Given the description of an element on the screen output the (x, y) to click on. 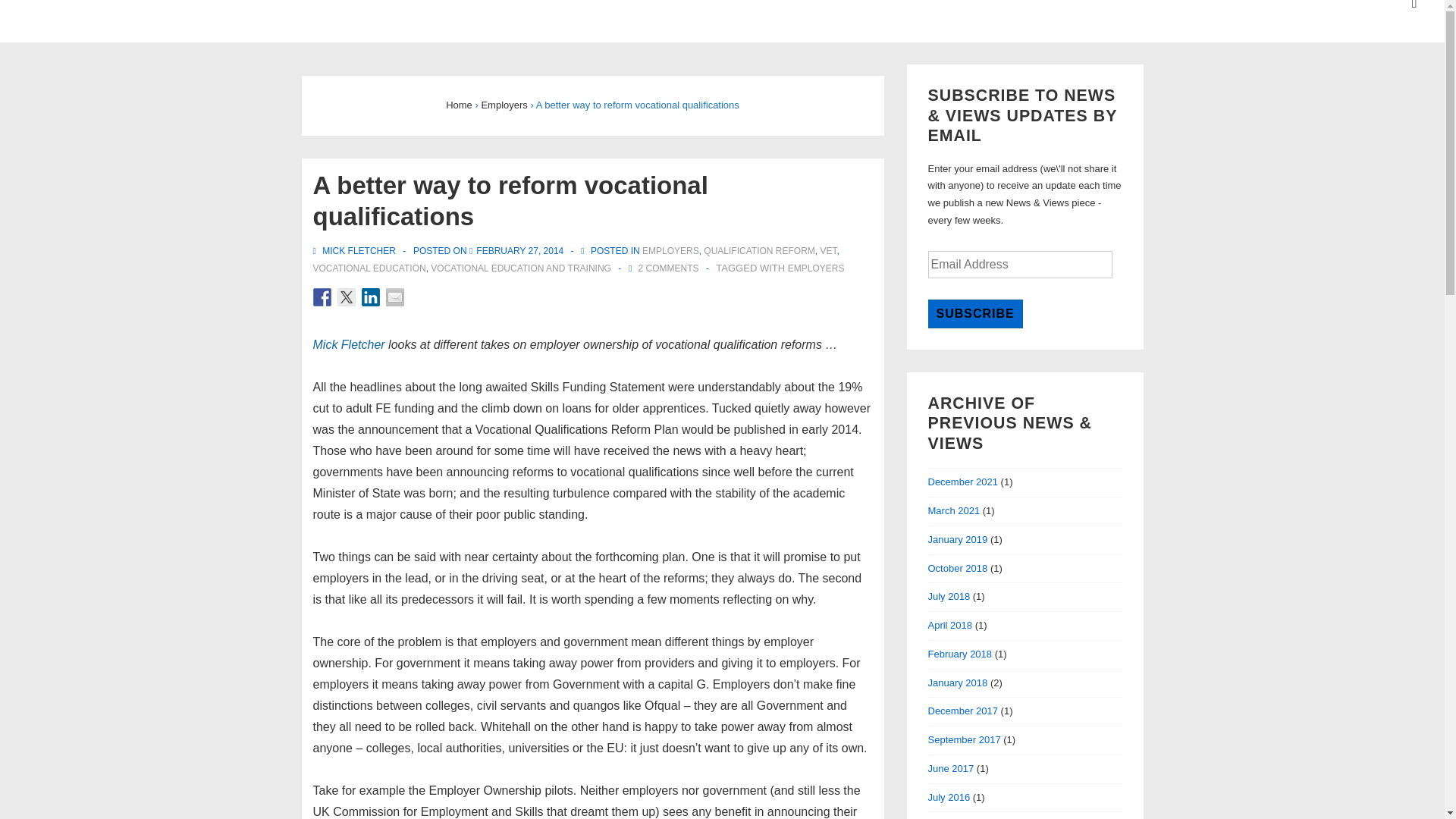
Share on Facebook (321, 297)
QUALIFICATION REFORM (758, 250)
VET (827, 250)
Home (458, 104)
View all posts by Mick Fletcher (355, 250)
Employers (503, 104)
MICK FLETCHER (355, 250)
EMPLOYERS (670, 250)
Share on Linkedin (369, 297)
FEBRUARY 27, 2014 (519, 250)
